Given the description of an element on the screen output the (x, y) to click on. 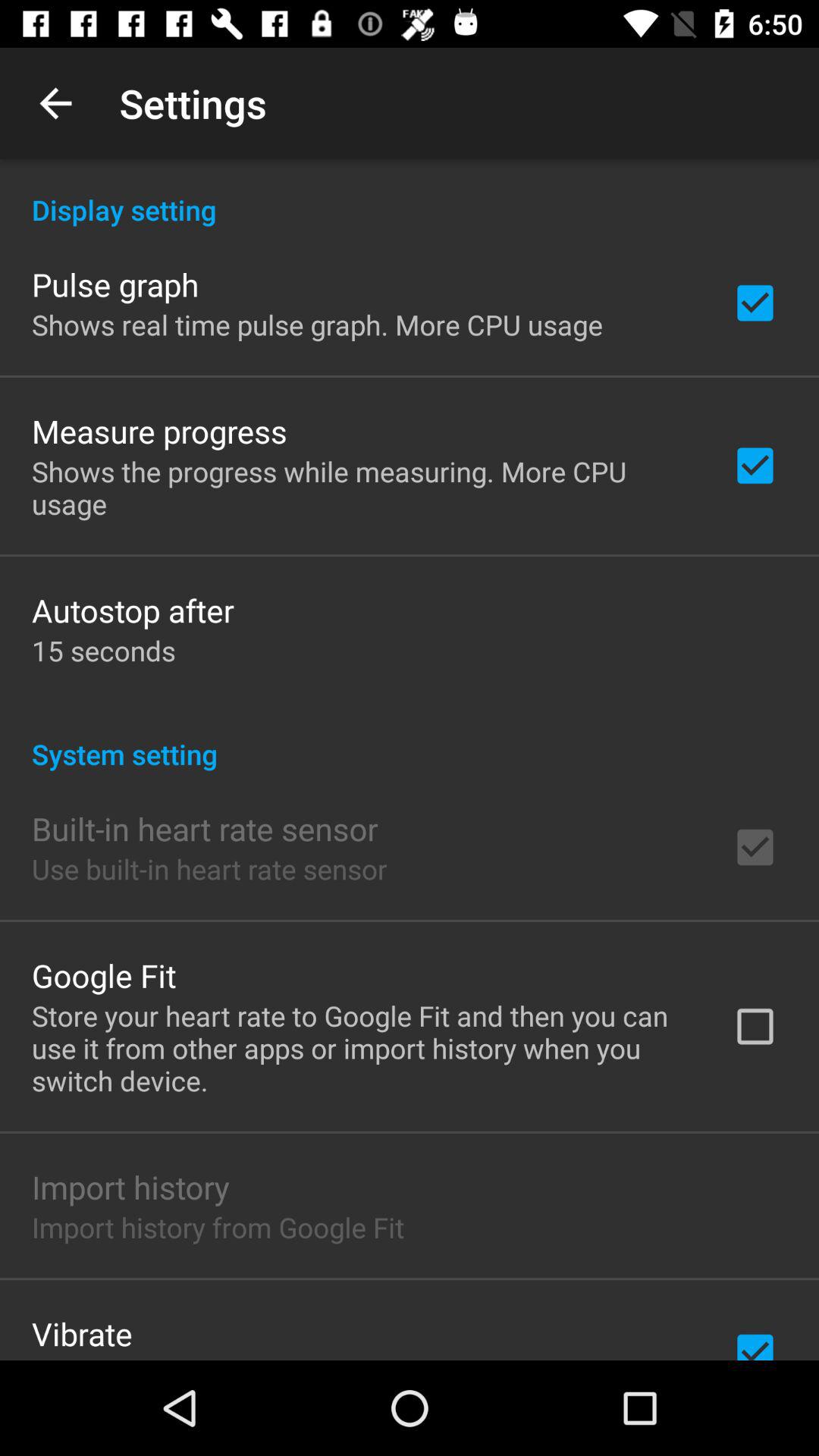
launch the item above 15 seconds (132, 609)
